Given the description of an element on the screen output the (x, y) to click on. 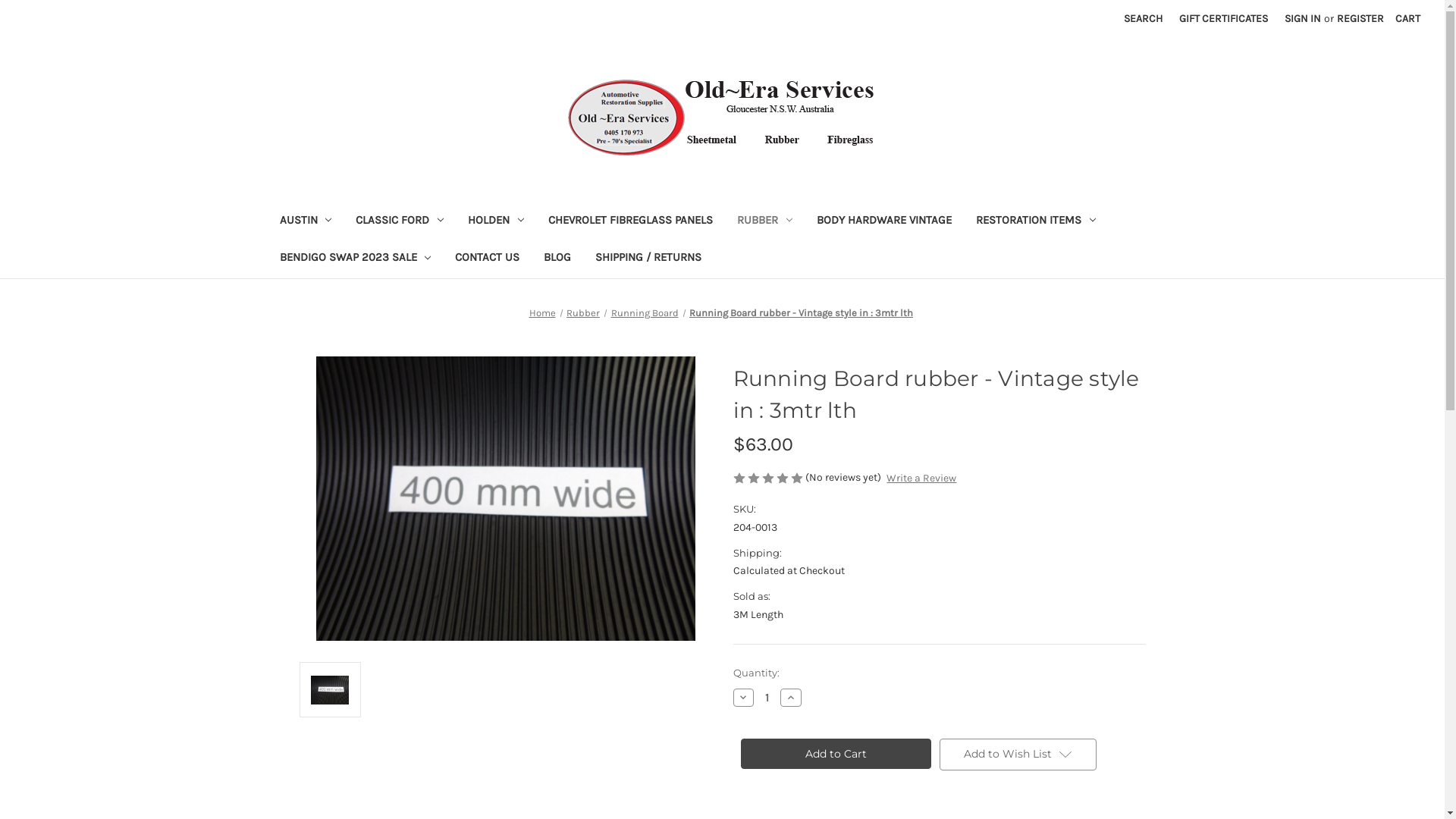
Old~Era Services Element type: hover (721, 117)
RUBBER Element type: text (764, 221)
SHIPPING / RETURNS Element type: text (648, 258)
CONTACT US Element type: text (486, 258)
Add to Wish List Element type: text (1017, 754)
AUSTIN Element type: text (304, 221)
Rubber Element type: text (582, 312)
Sold in 3mtr coils Element type: hover (329, 689)
REGISTER Element type: text (1360, 18)
CHEVROLET FIBREGLASS PANELS Element type: text (630, 221)
BODY HARDWARE VINTAGE Element type: text (883, 221)
Running Board rubber - Vintage style in : 3mtr lth Element type: text (801, 312)
SIGN IN Element type: text (1302, 18)
SEARCH Element type: text (1142, 18)
GIFT CERTIFICATES Element type: text (1223, 18)
BLOG Element type: text (557, 258)
Running Board Element type: text (644, 312)
Home Element type: text (542, 312)
Write a Review Element type: text (921, 478)
CLASSIC FORD Element type: text (399, 221)
Add to Cart Element type: text (835, 753)
HOLDEN Element type: text (495, 221)
BENDIGO SWAP 2023 SALE Element type: text (354, 258)
CART Element type: text (1407, 18)
RESTORATION ITEMS Element type: text (1035, 221)
Sold in 3mtr coils Element type: hover (504, 497)
